Given the description of an element on the screen output the (x, y) to click on. 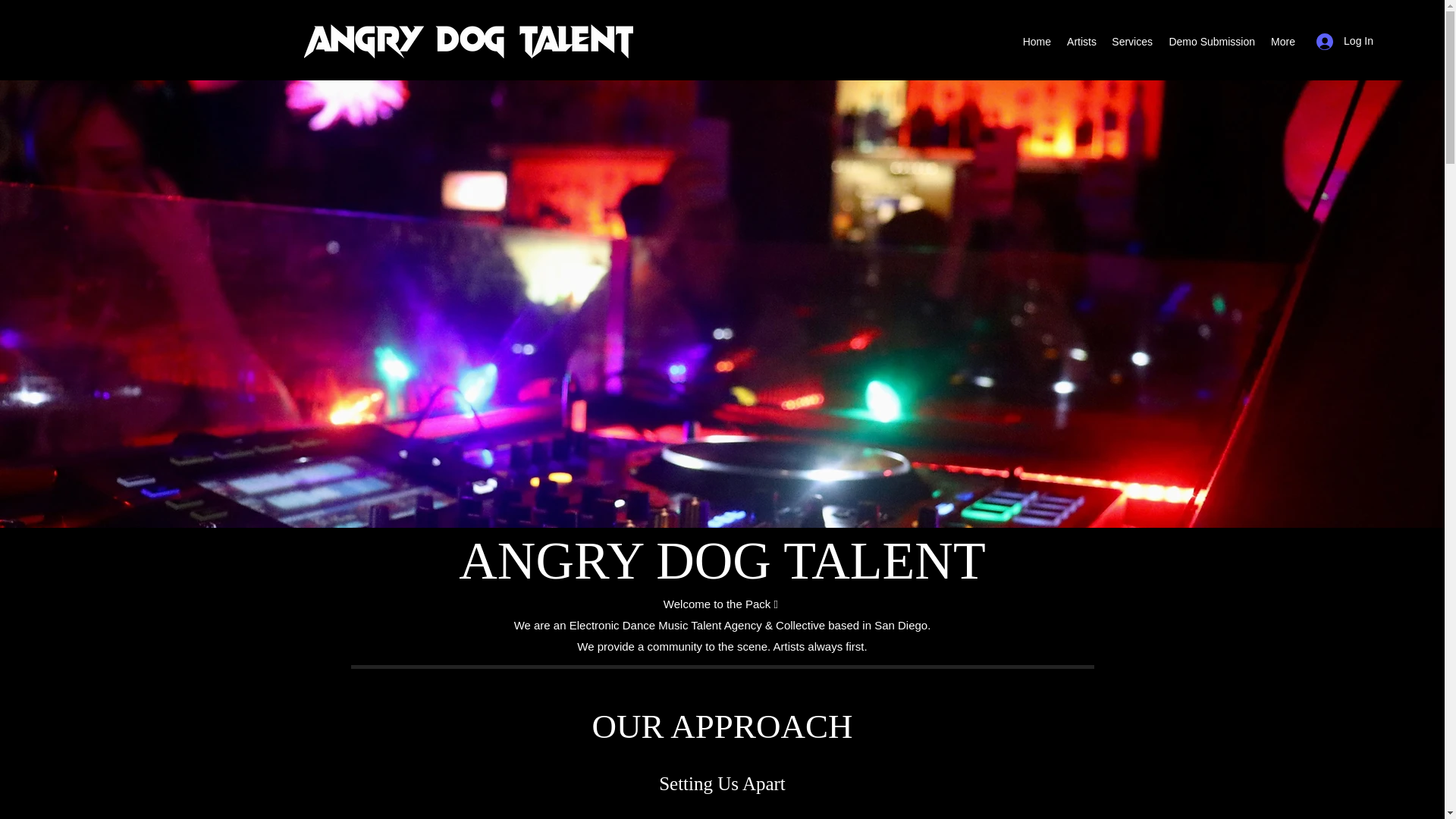
Home (1036, 41)
Log In (1345, 41)
Demo Submission (1211, 41)
Services (1131, 41)
Artists (1080, 41)
